Given the description of an element on the screen output the (x, y) to click on. 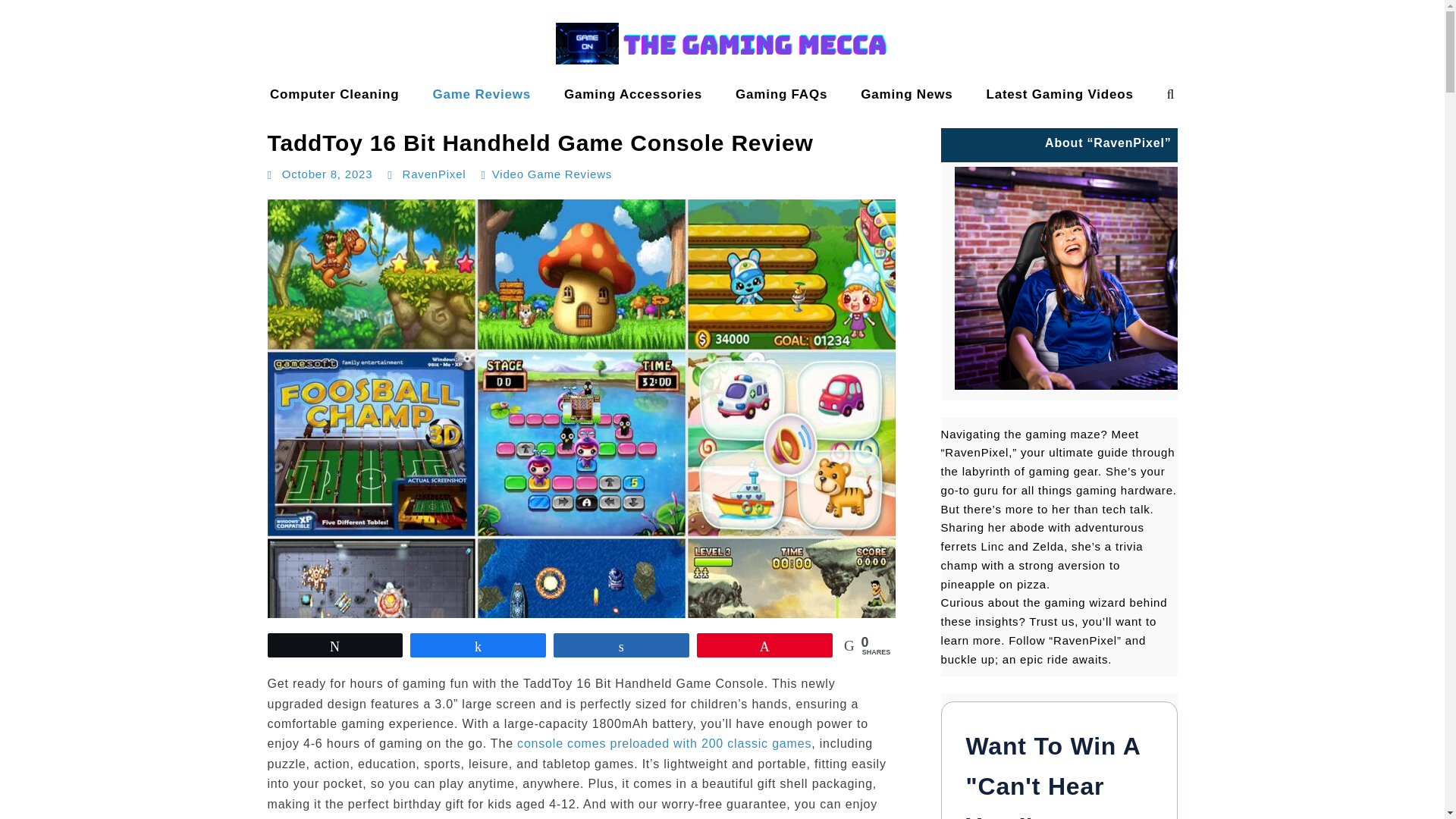
The Gaming Mecca (74, 109)
Gaming FAQs (781, 94)
console comes preloaded with 200 classic games (663, 743)
RavenPixel (434, 173)
Gaming Accessories (633, 94)
Gaming News (906, 94)
Latest Gaming Videos (1059, 94)
Video Game Reviews (551, 173)
Game Reviews (480, 94)
Computer Cleaning (333, 94)
